Given the description of an element on the screen output the (x, y) to click on. 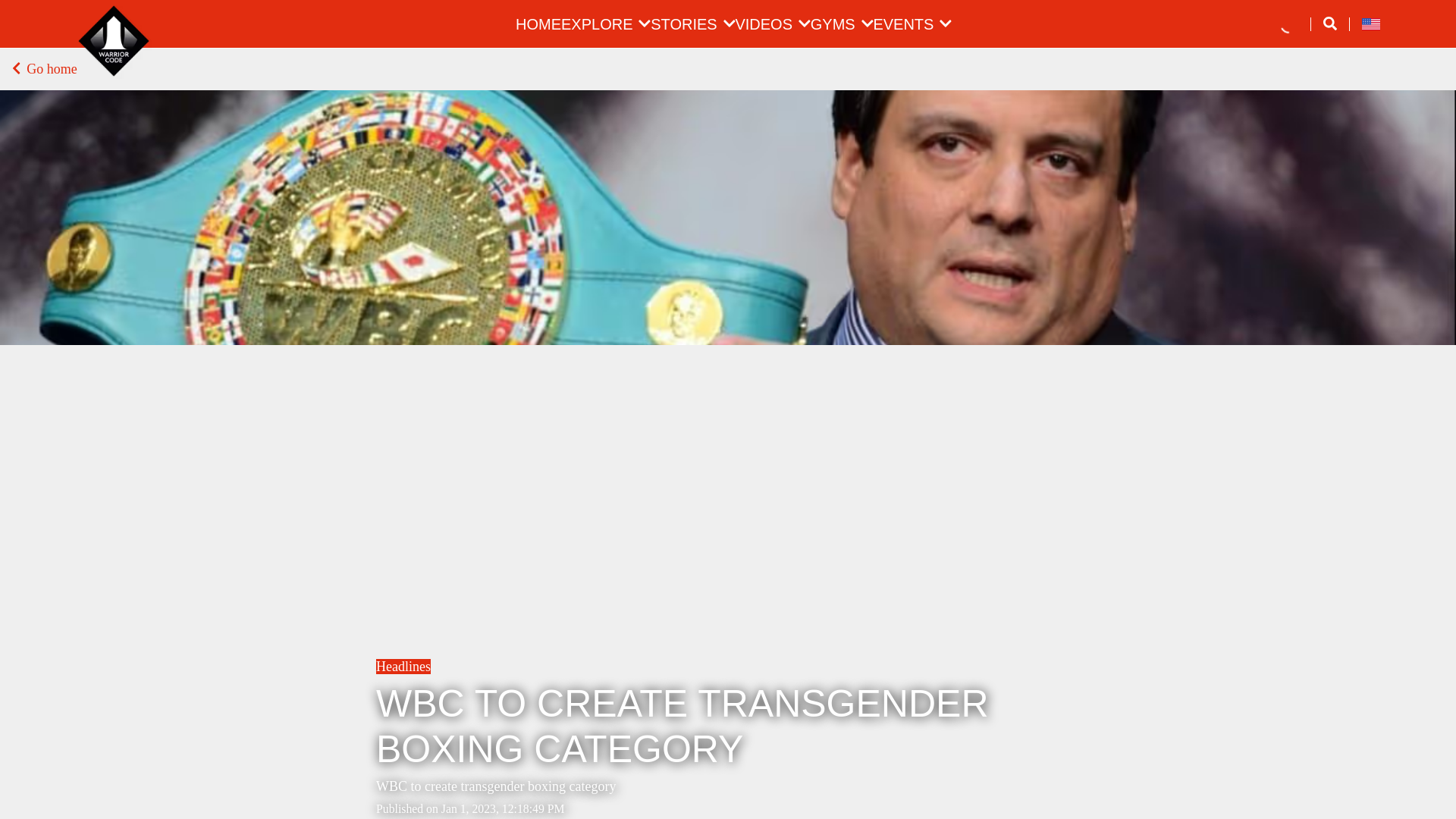
VIDEOS (763, 23)
EVENTS (902, 23)
STORIES (683, 23)
GYMS (833, 23)
EXPLORE (595, 23)
HOME (537, 23)
